Given the description of an element on the screen output the (x, y) to click on. 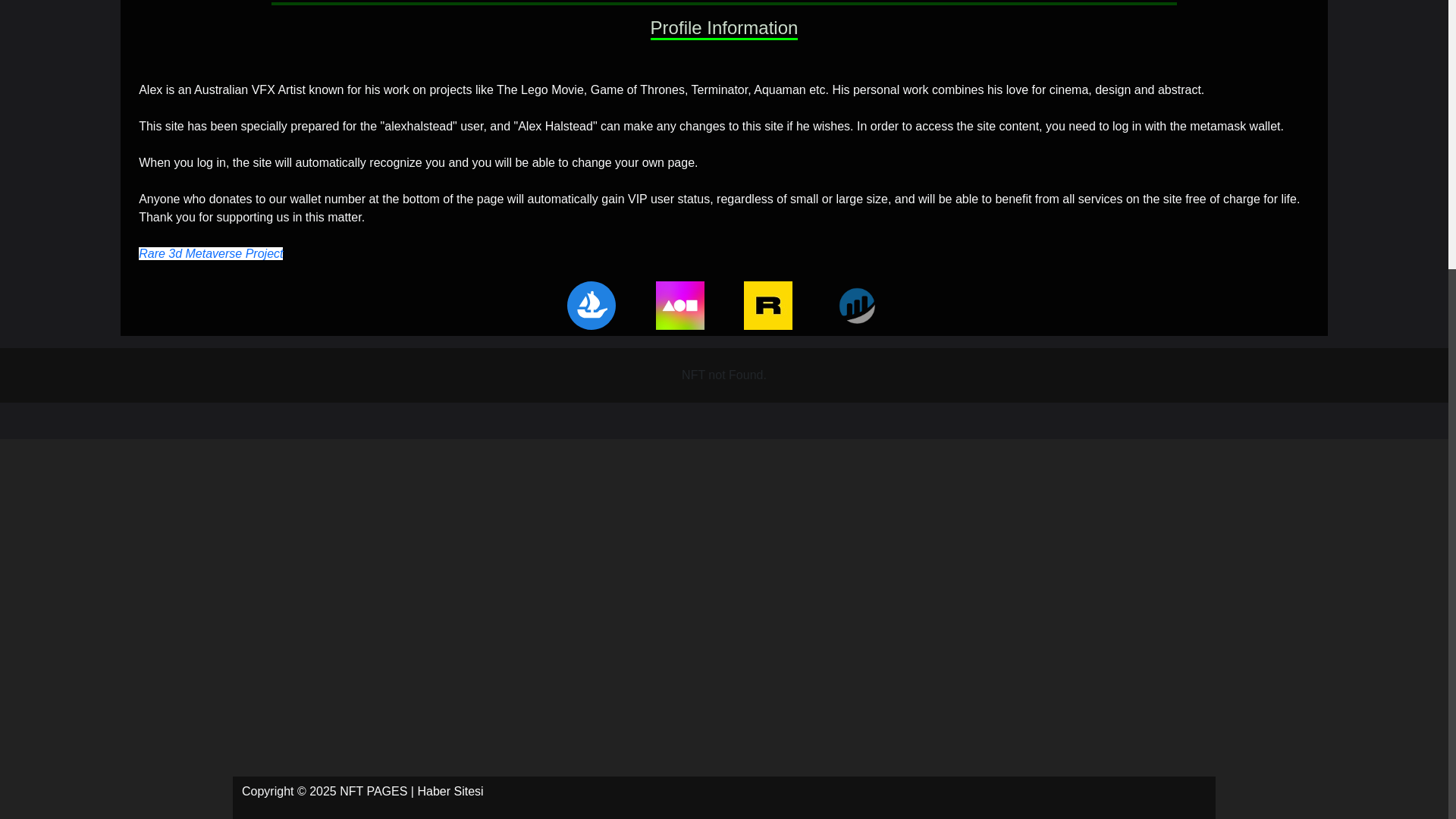
Haber Sitesi (449, 790)
Rare 3d Metaverse Project (210, 253)
